Given the description of an element on the screen output the (x, y) to click on. 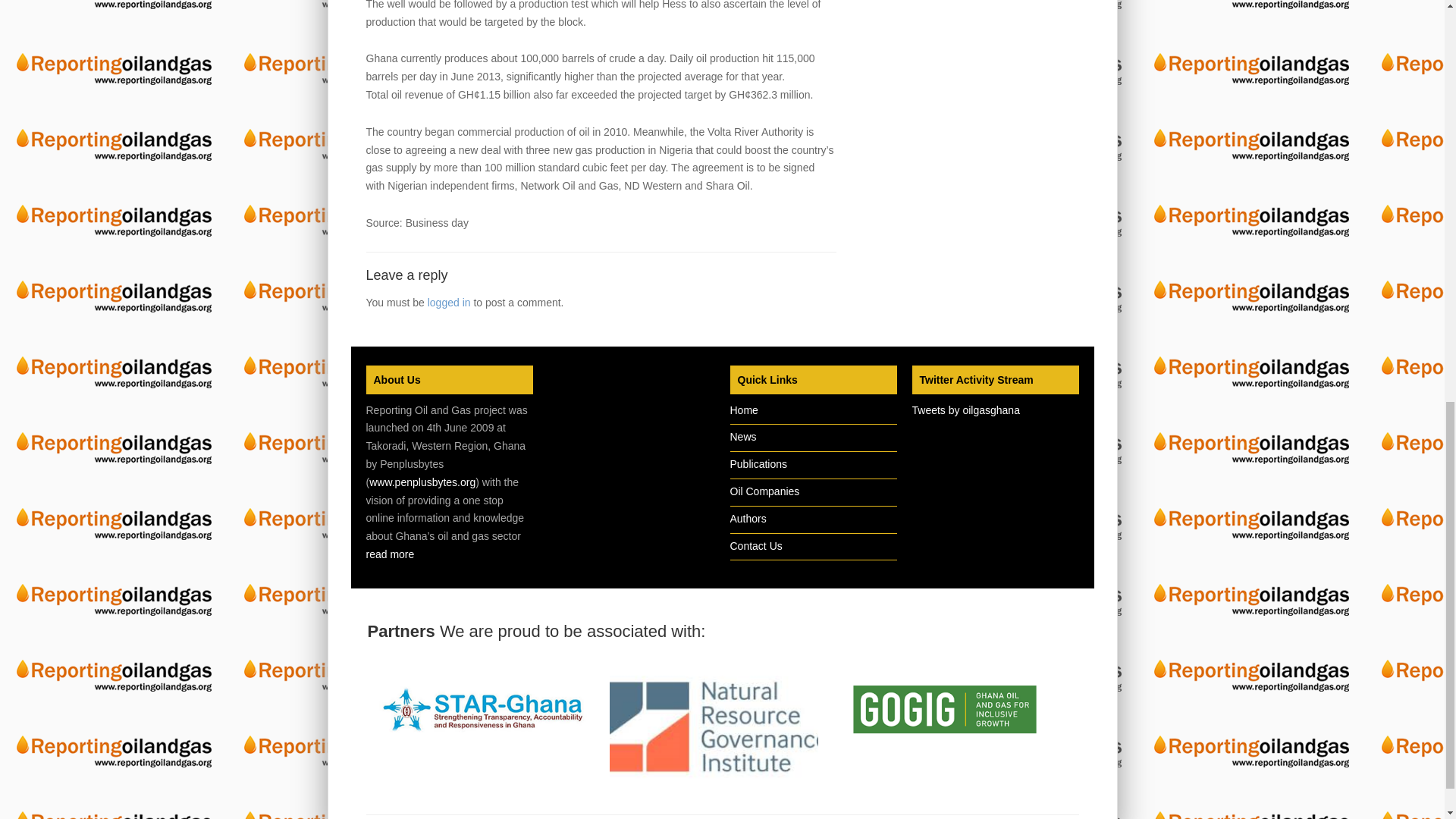
Home (743, 410)
Oil Companies (764, 491)
Publications (758, 463)
logged in (449, 302)
News (742, 436)
Contact Us (755, 545)
read more (389, 553)
www.penplusbytes.org (422, 481)
Authors (747, 518)
